Given the description of an element on the screen output the (x, y) to click on. 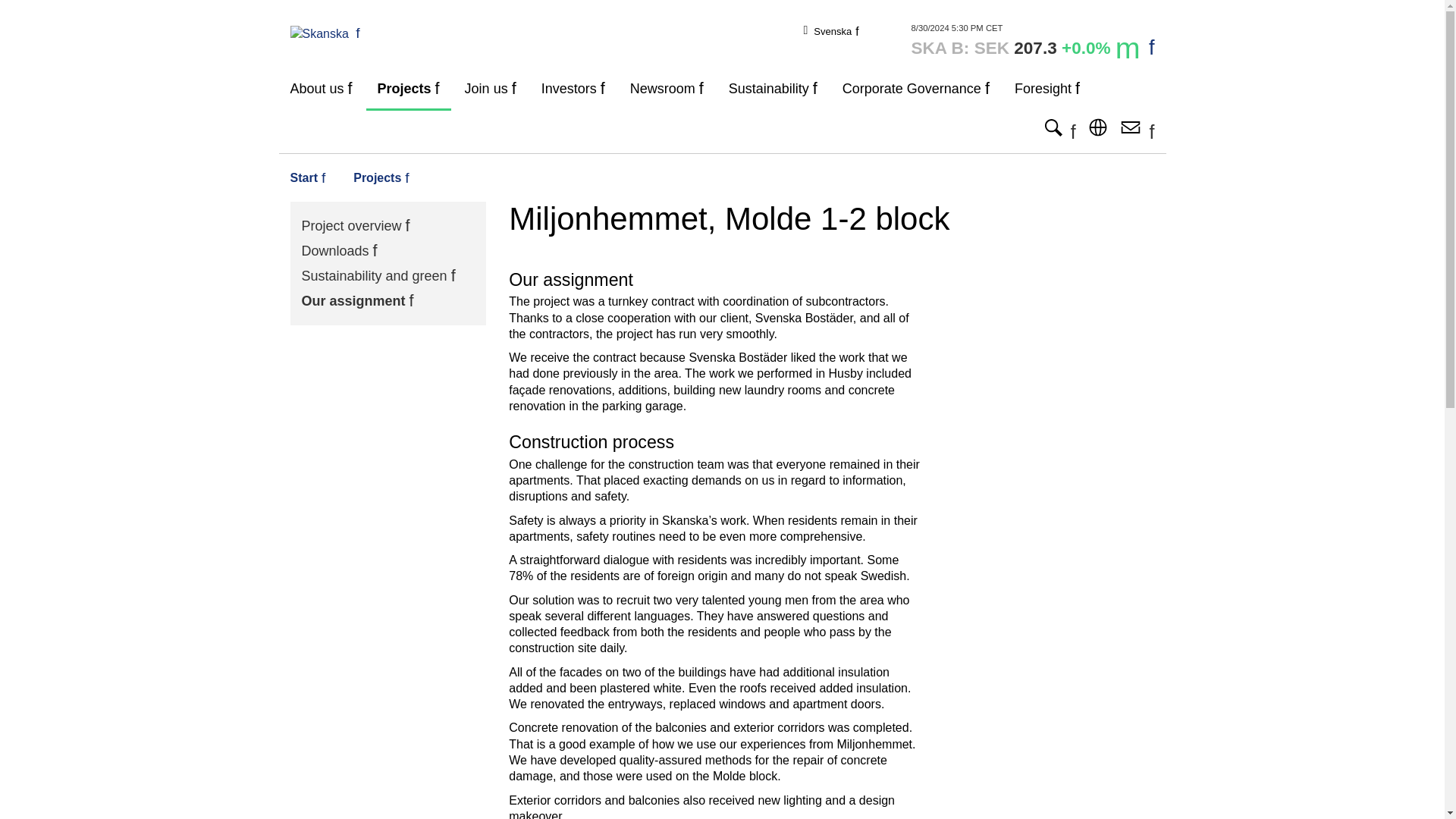
Projects (408, 87)
Svenska (836, 30)
Compare (1032, 40)
Join us (489, 87)
Skanska (324, 32)
About us (321, 87)
